Given the description of an element on the screen output the (x, y) to click on. 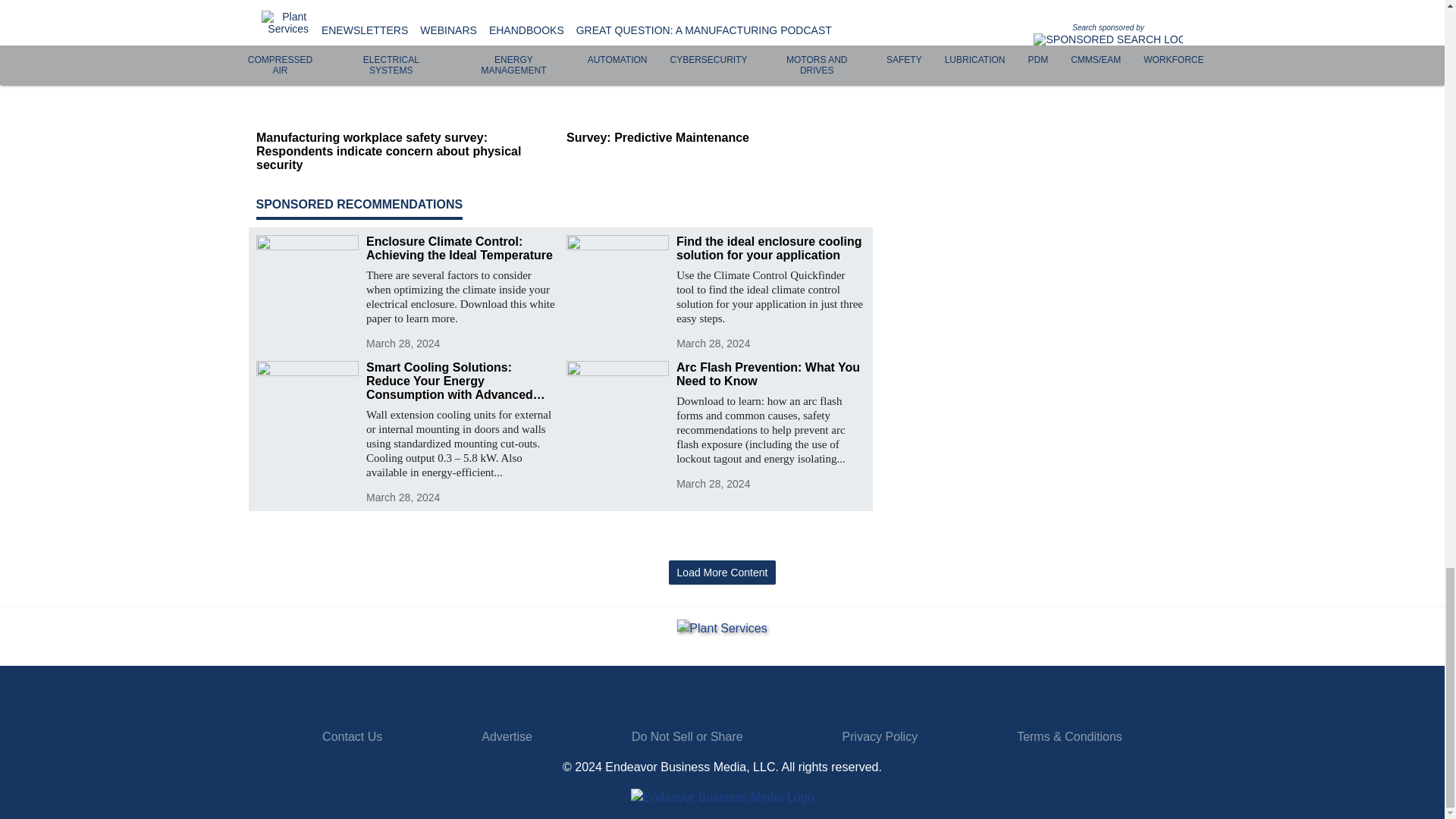
Survey: Predictive Maintenance (715, 137)
Enclosure Climate Control: Achieving the Ideal Temperature (459, 248)
